Given the description of an element on the screen output the (x, y) to click on. 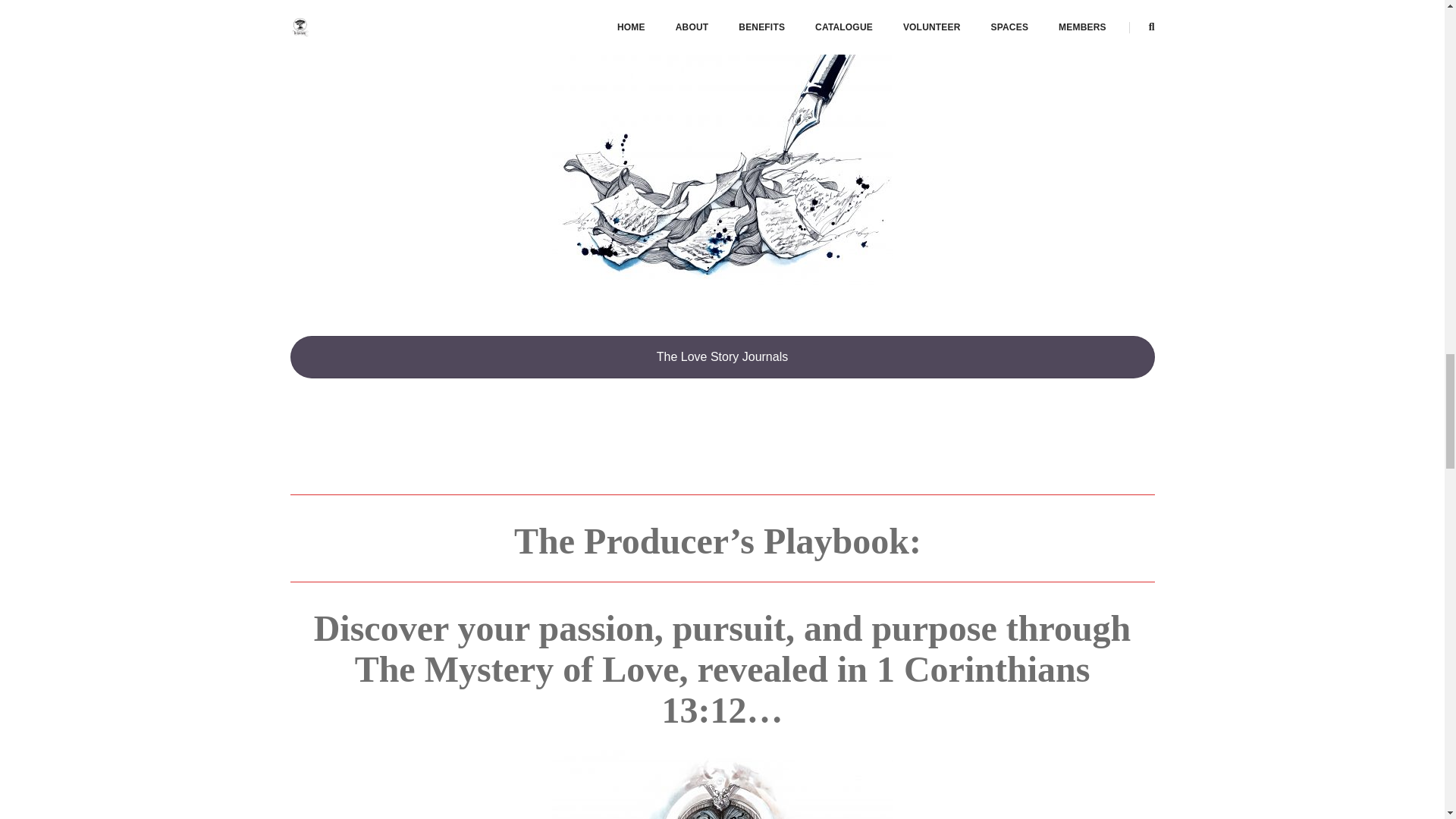
writing (722, 160)
door (722, 784)
